Given the description of an element on the screen output the (x, y) to click on. 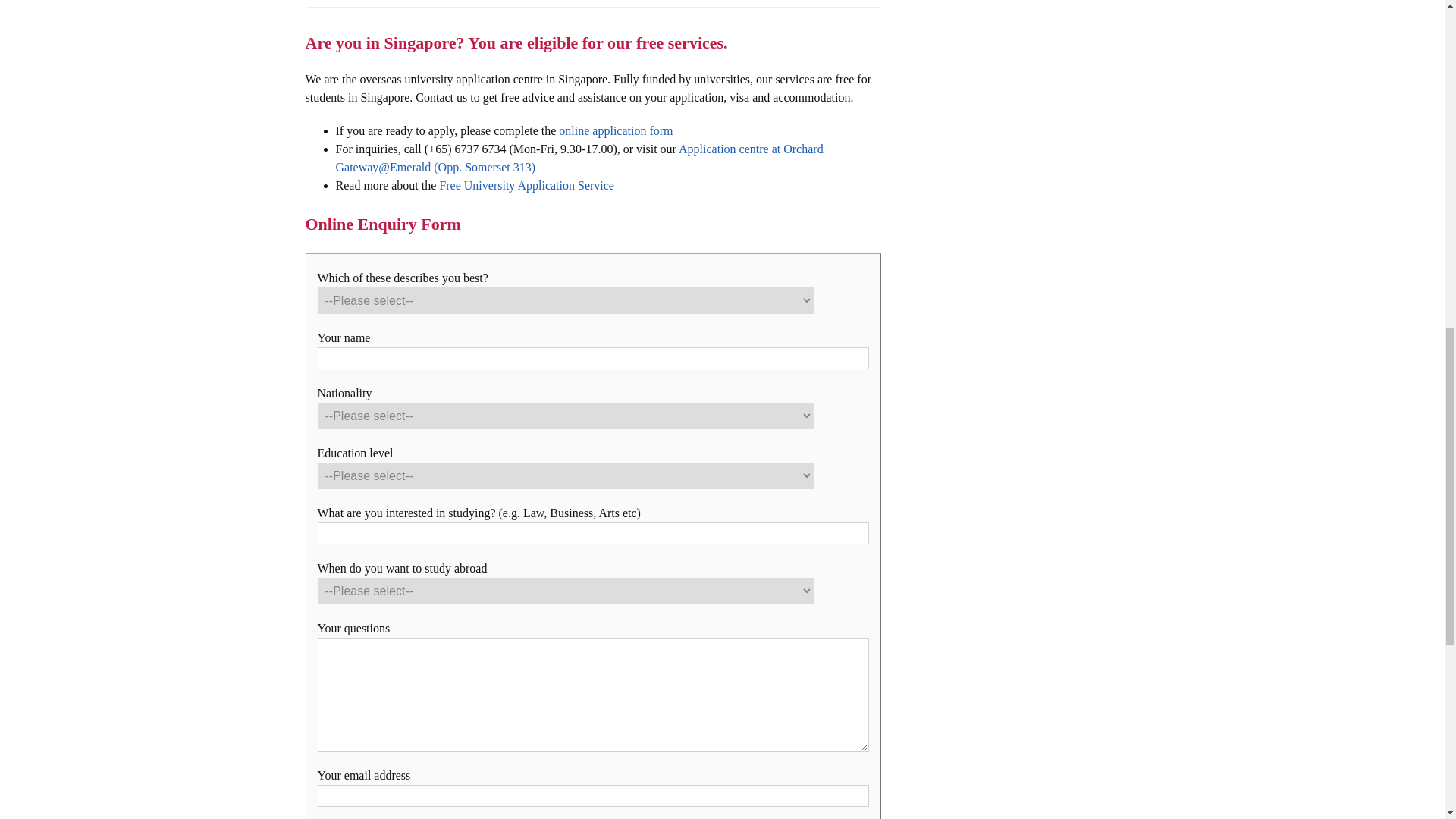
Your Email Address (592, 795)
What are You Interested in Studying? (592, 533)
Name (592, 358)
